Given the description of an element on the screen output the (x, y) to click on. 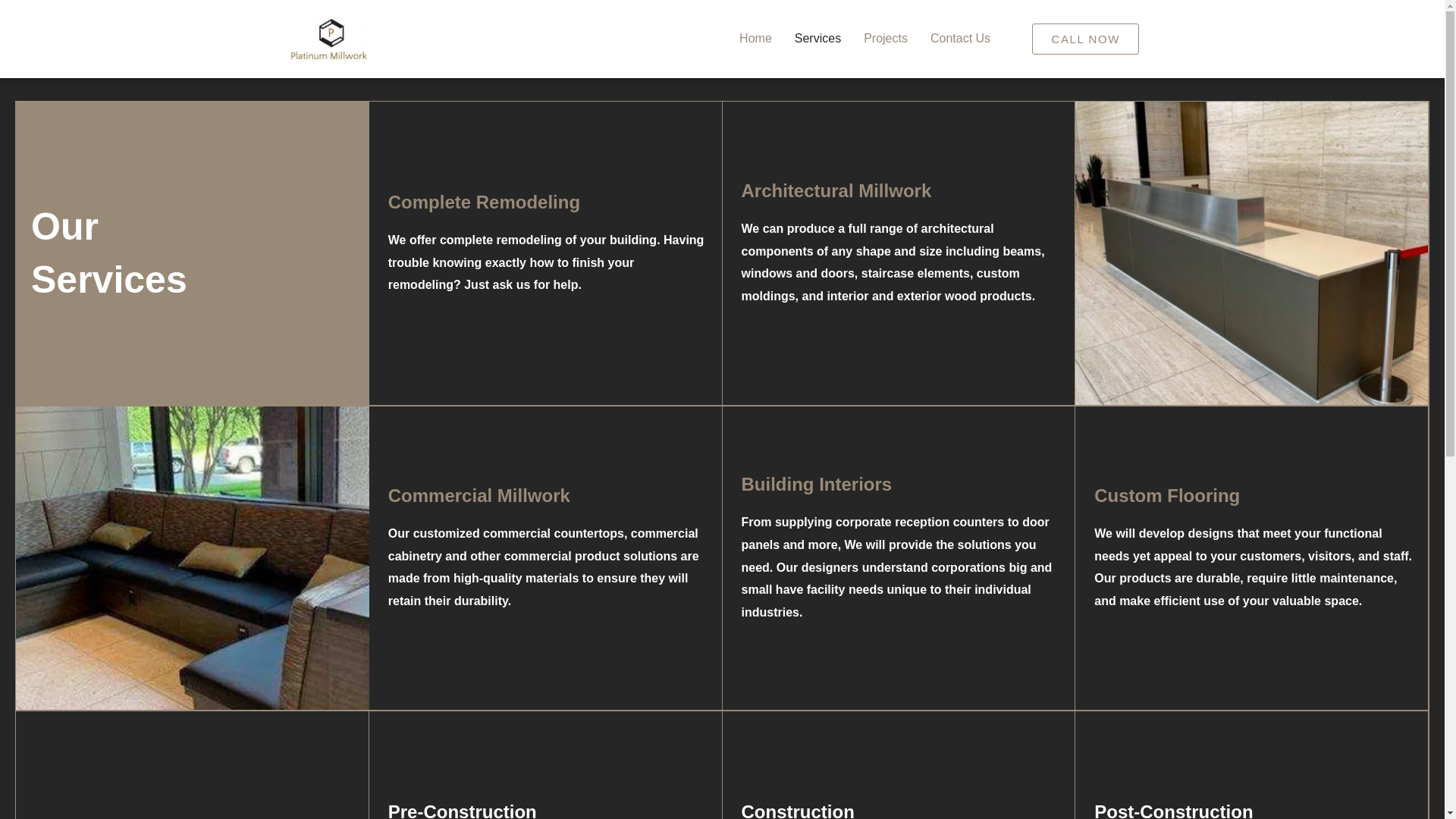
Services (817, 38)
CALL NOW (1085, 38)
Projects (884, 38)
Contact Us (959, 38)
MediumSquareLogo (328, 38)
Home (755, 38)
